Given the description of an element on the screen output the (x, y) to click on. 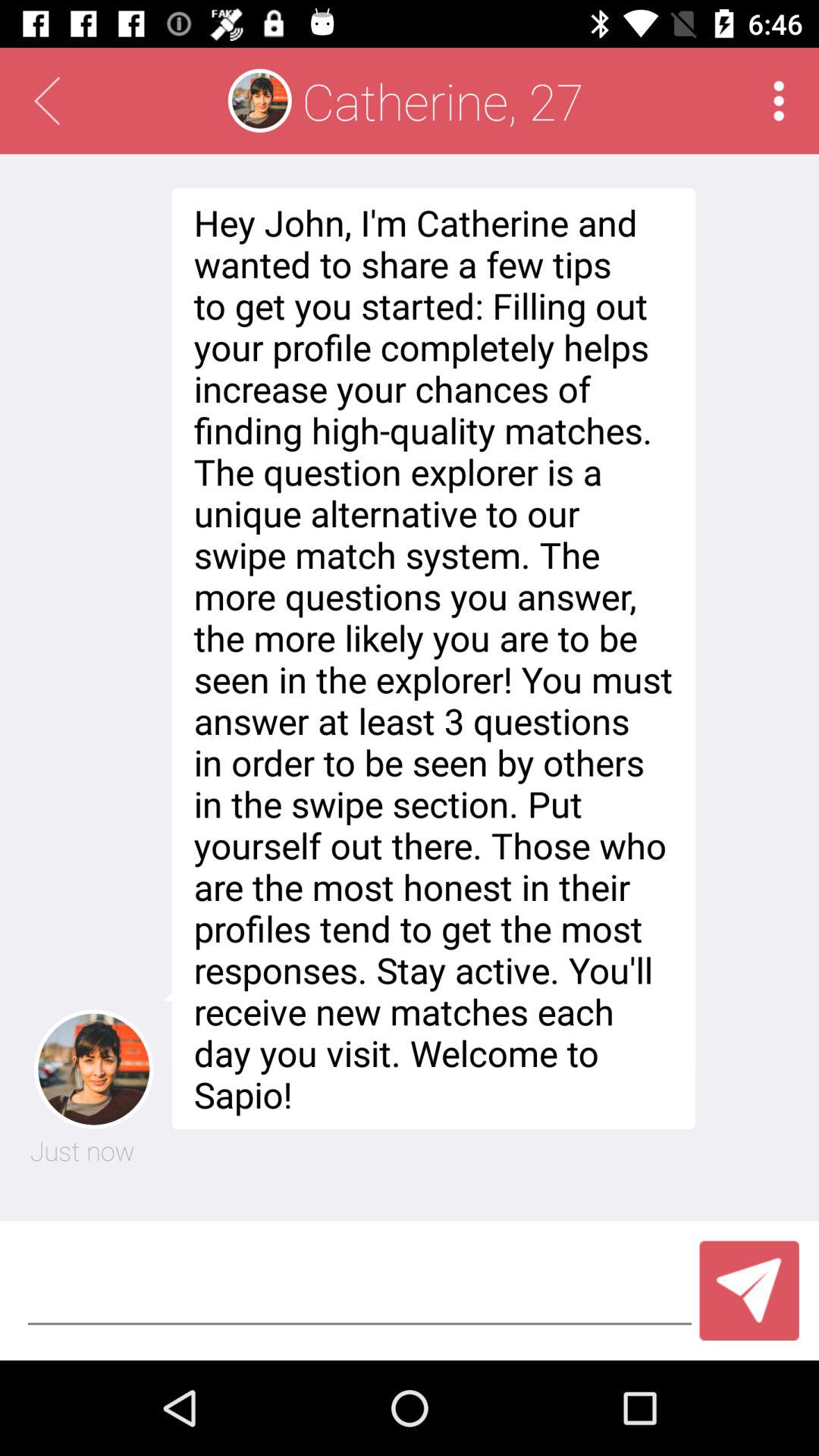
scroll until the just now icon (82, 1150)
